Given the description of an element on the screen output the (x, y) to click on. 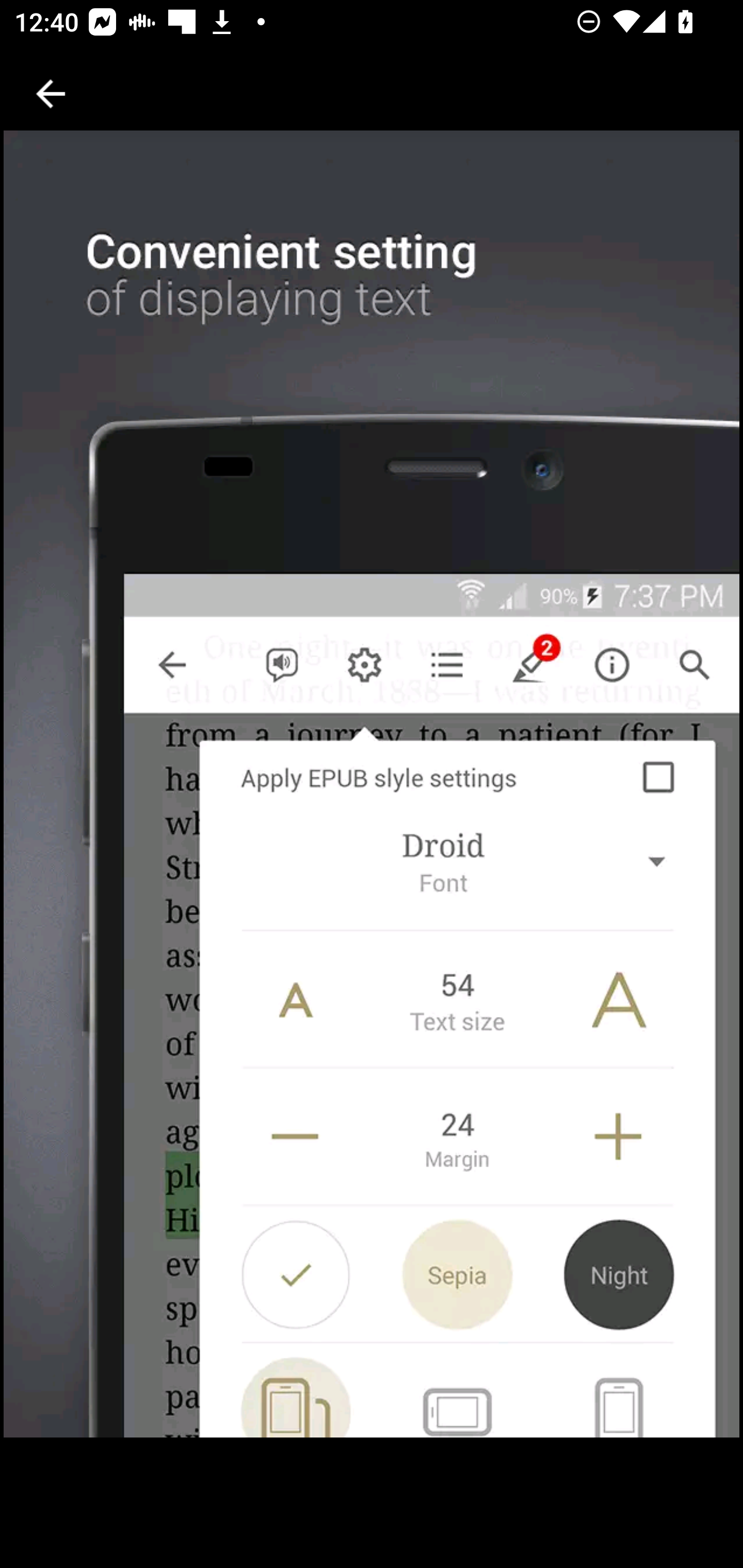
Back (50, 93)
